Given the description of an element on the screen output the (x, y) to click on. 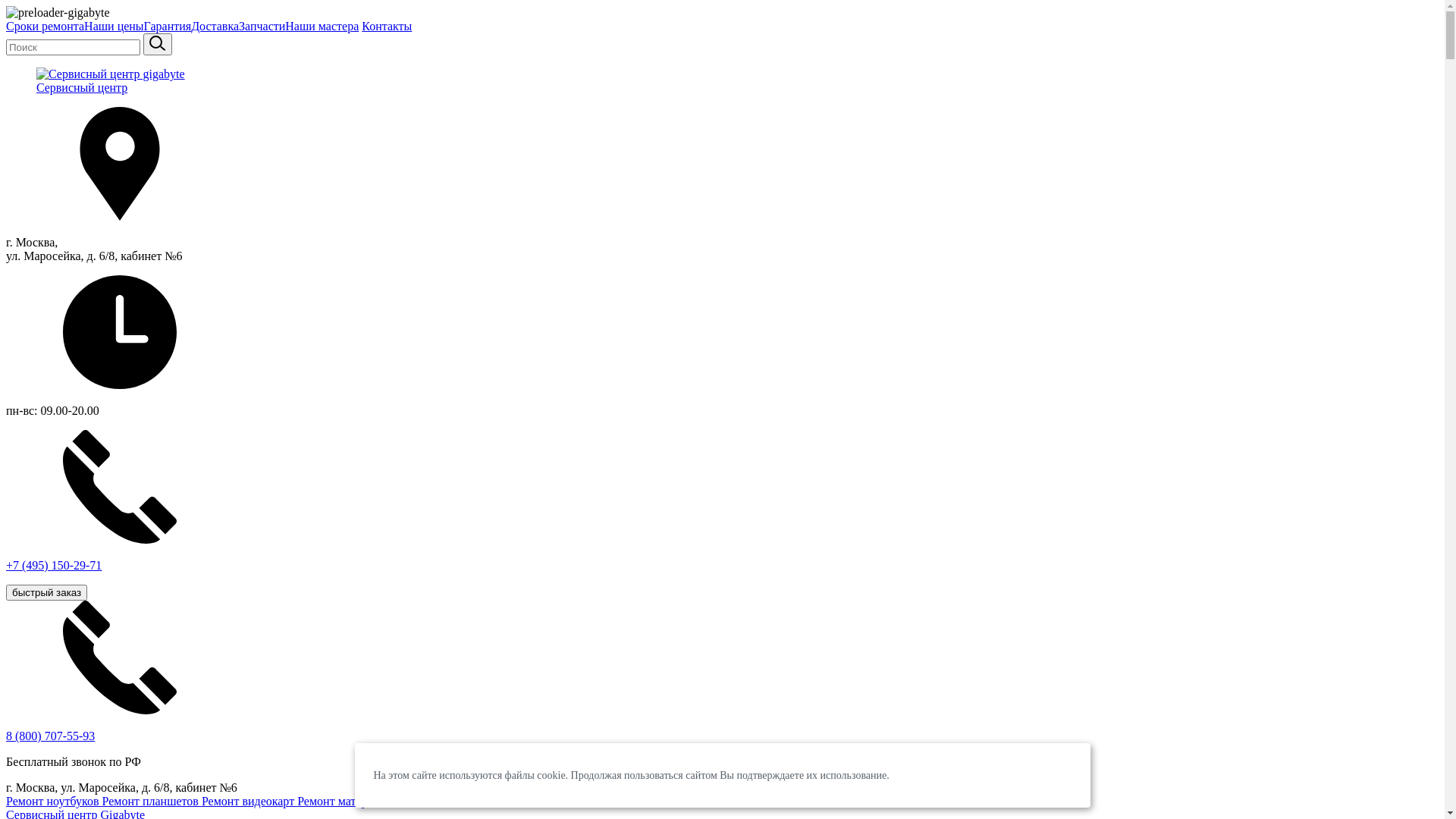
8 (800) 707-55-93 Element type: text (50, 735)
+7 (495) 150-29-71 Element type: text (722, 513)
sisea.search Element type: text (157, 44)
